Given the description of an element on the screen output the (x, y) to click on. 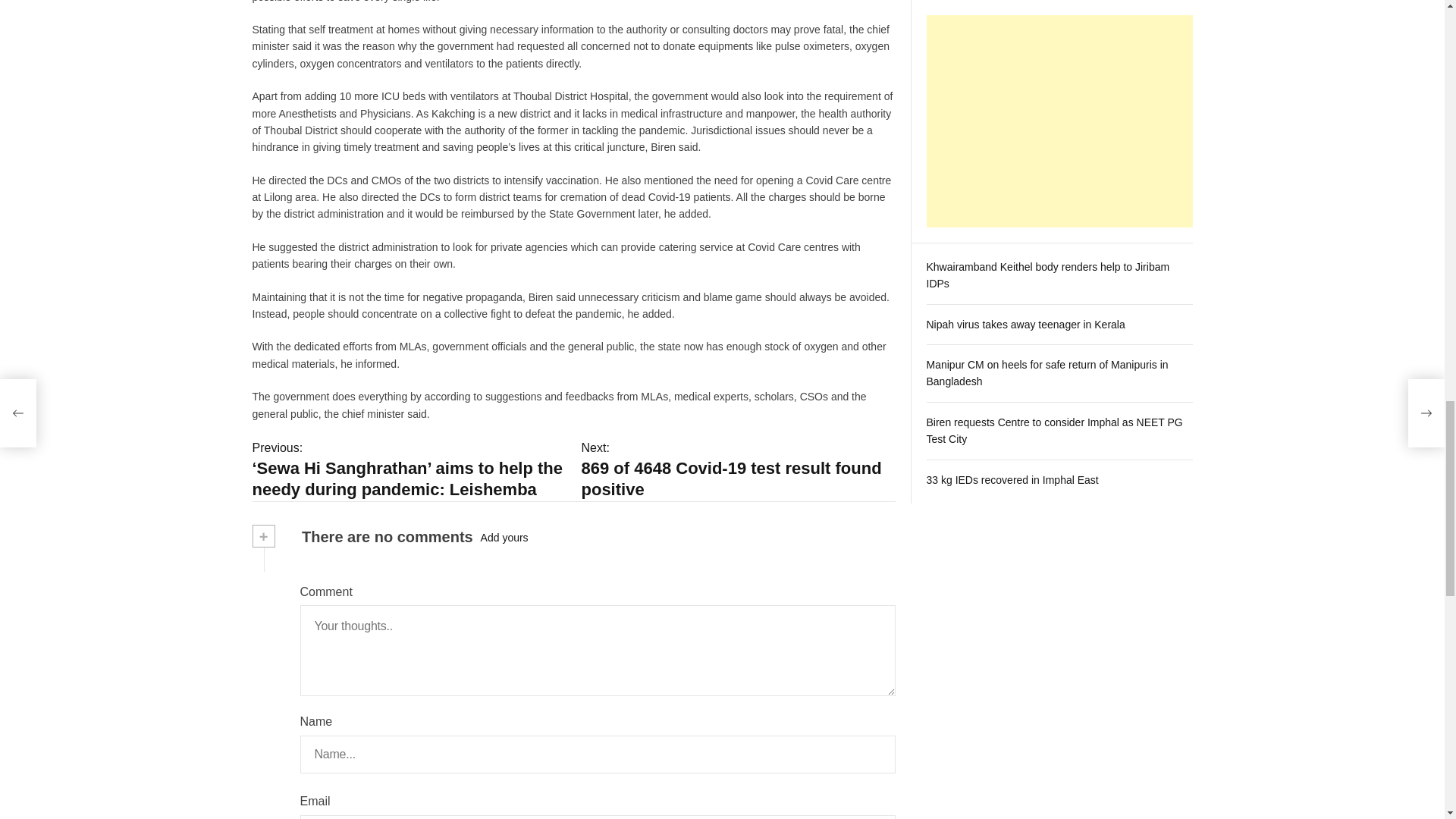
Add yours (504, 537)
